Given the description of an element on the screen output the (x, y) to click on. 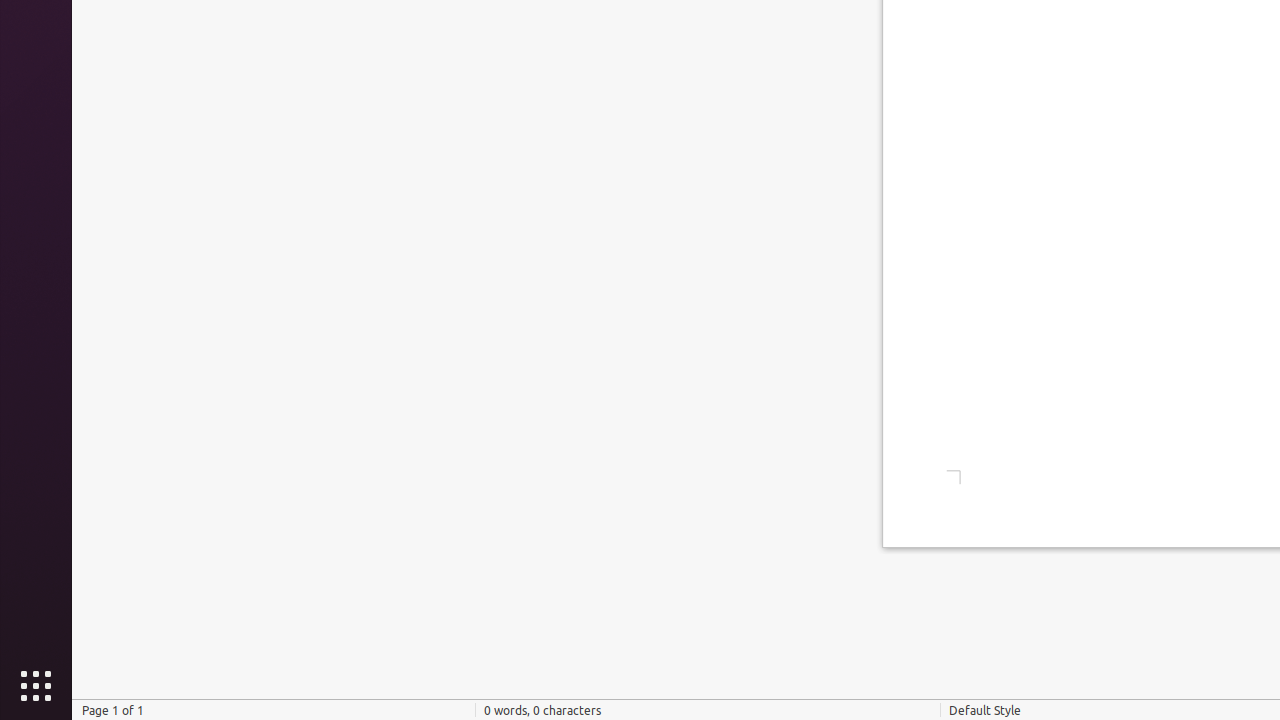
Show Applications Element type: toggle-button (36, 686)
